Given the description of an element on the screen output the (x, y) to click on. 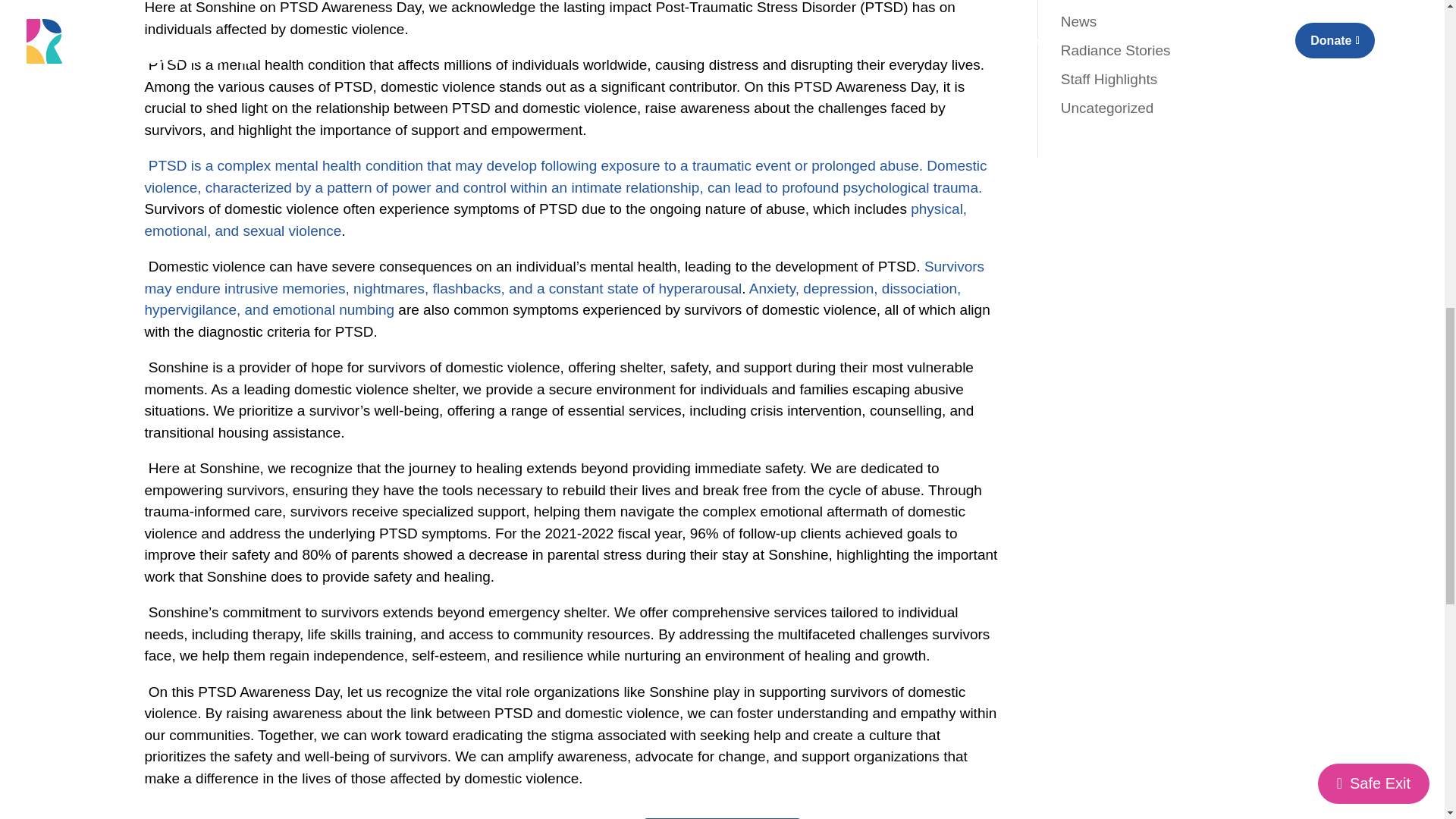
physical, emotional, and sexual violence (555, 219)
